Given the description of an element on the screen output the (x, y) to click on. 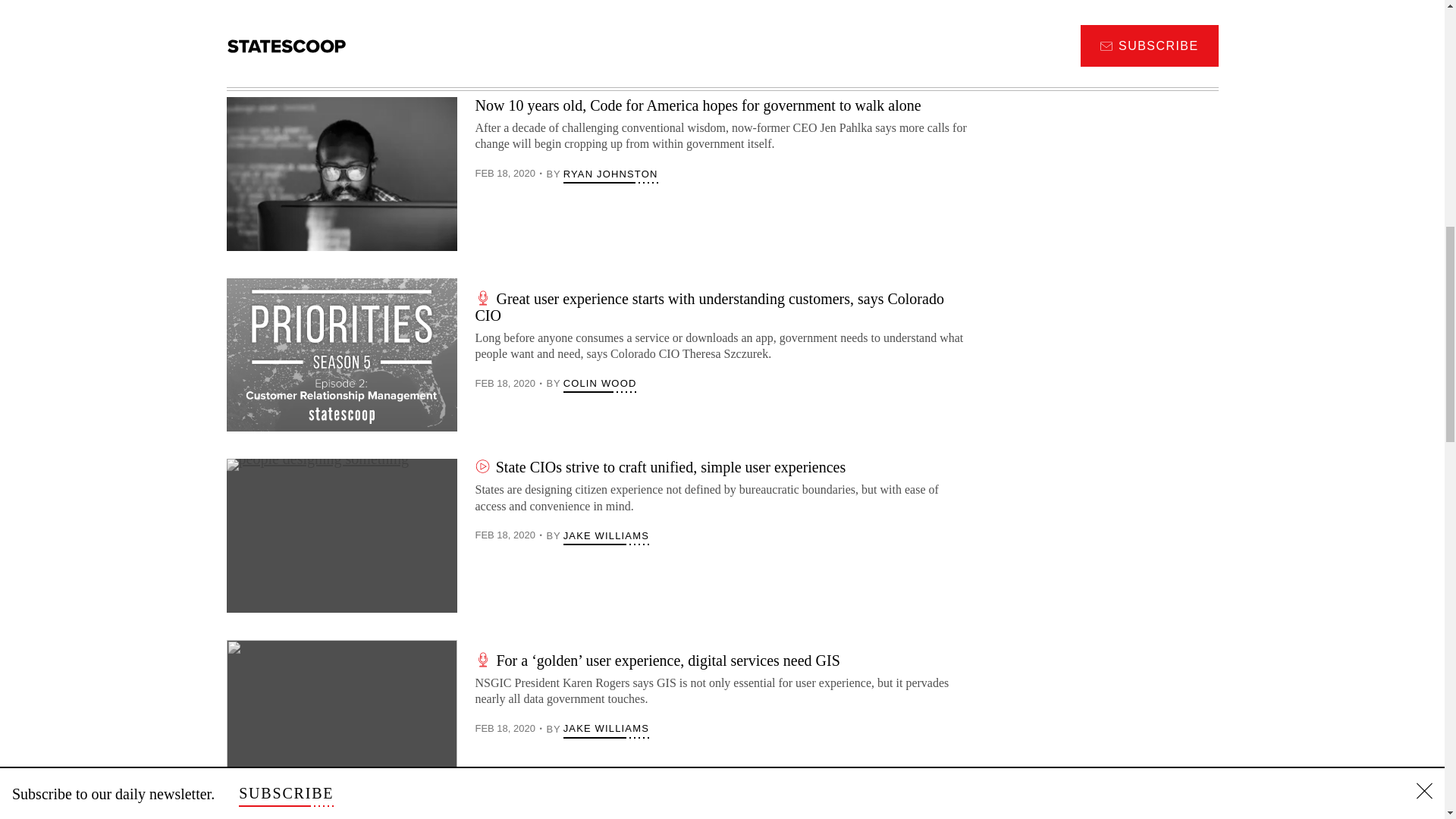
3rd party ad content (1103, 166)
